Given the description of an element on the screen output the (x, y) to click on. 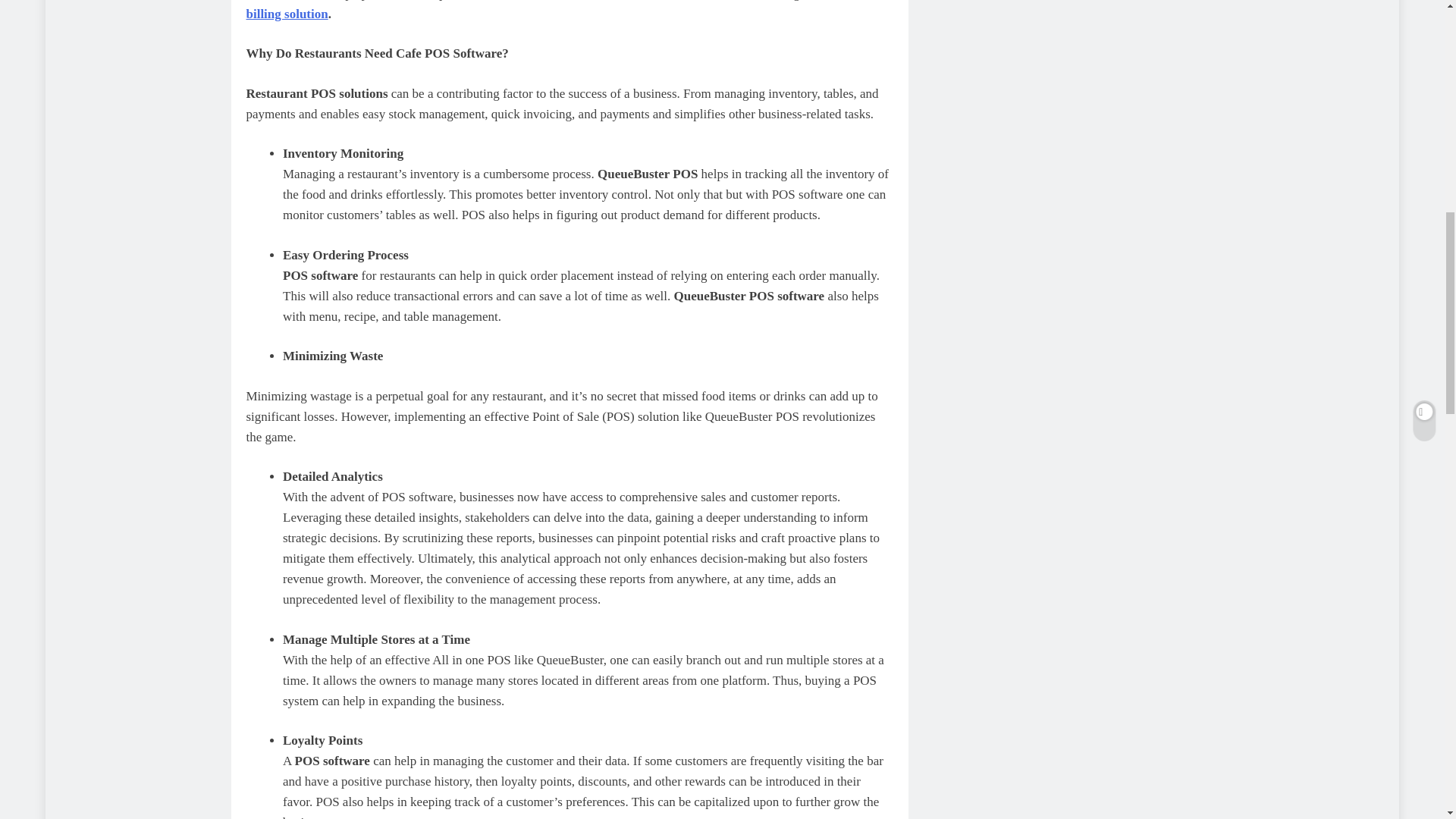
cafe billing solution (552, 10)
